Given the description of an element on the screen output the (x, y) to click on. 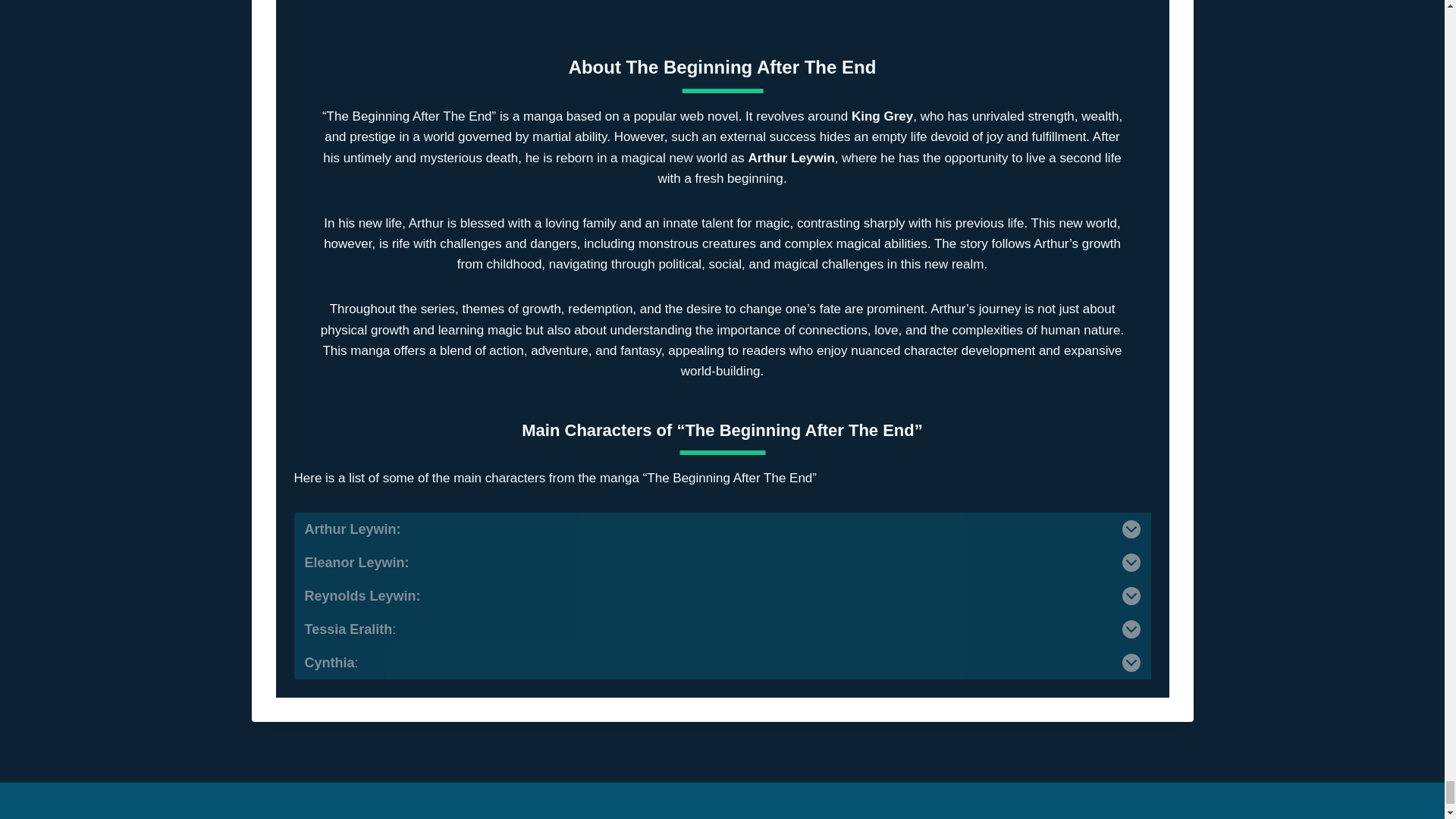
Reynolds Leywin: (722, 595)
Arthur Leywin: (722, 529)
Cynthia: (722, 662)
Eleanor Leywin: (722, 562)
Tessia Eralith: (722, 629)
